Given the description of an element on the screen output the (x, y) to click on. 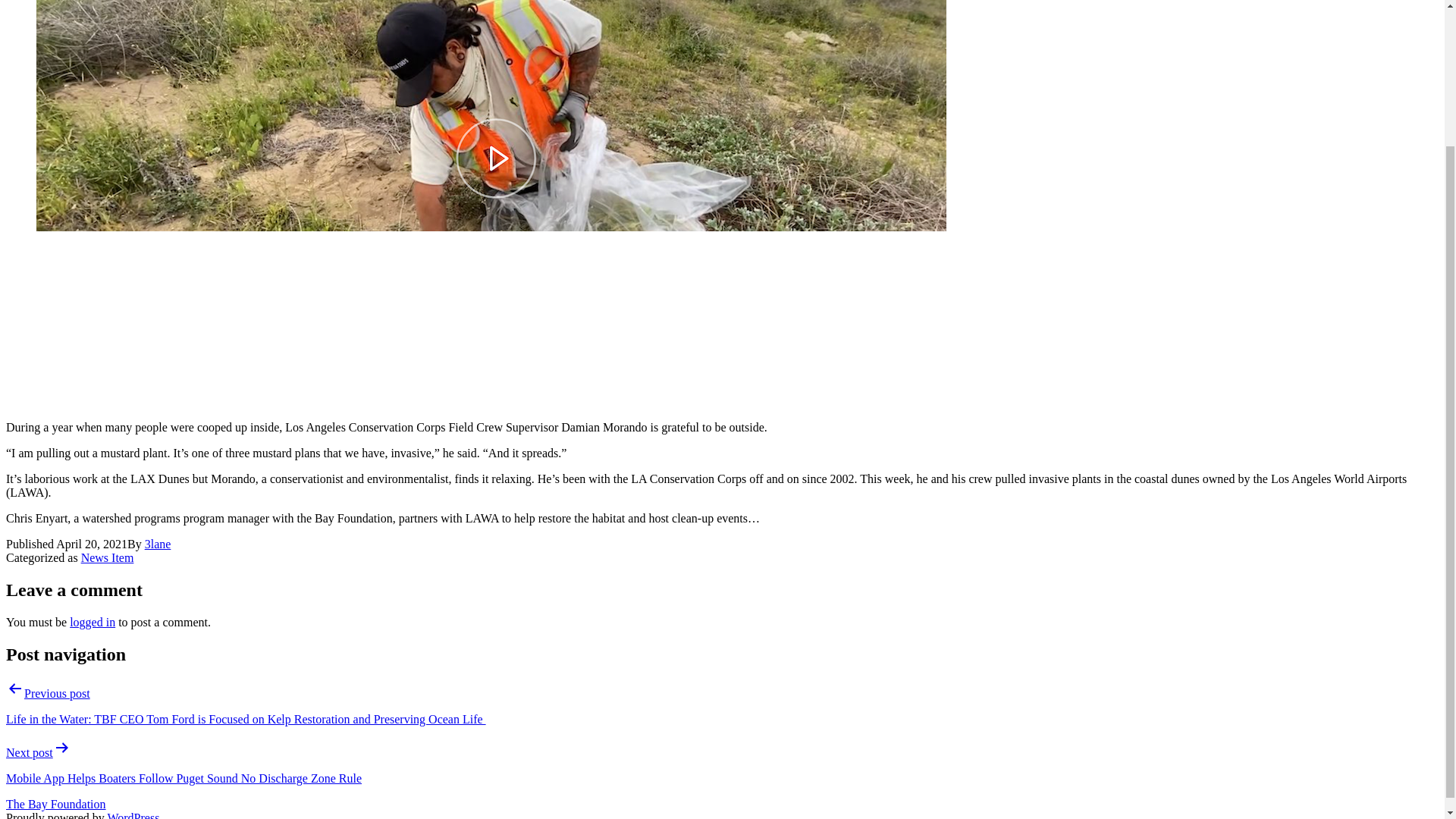
The Bay Foundation (55, 803)
News Item (107, 557)
logged in (92, 621)
3lane (157, 543)
